Given the description of an element on the screen output the (x, y) to click on. 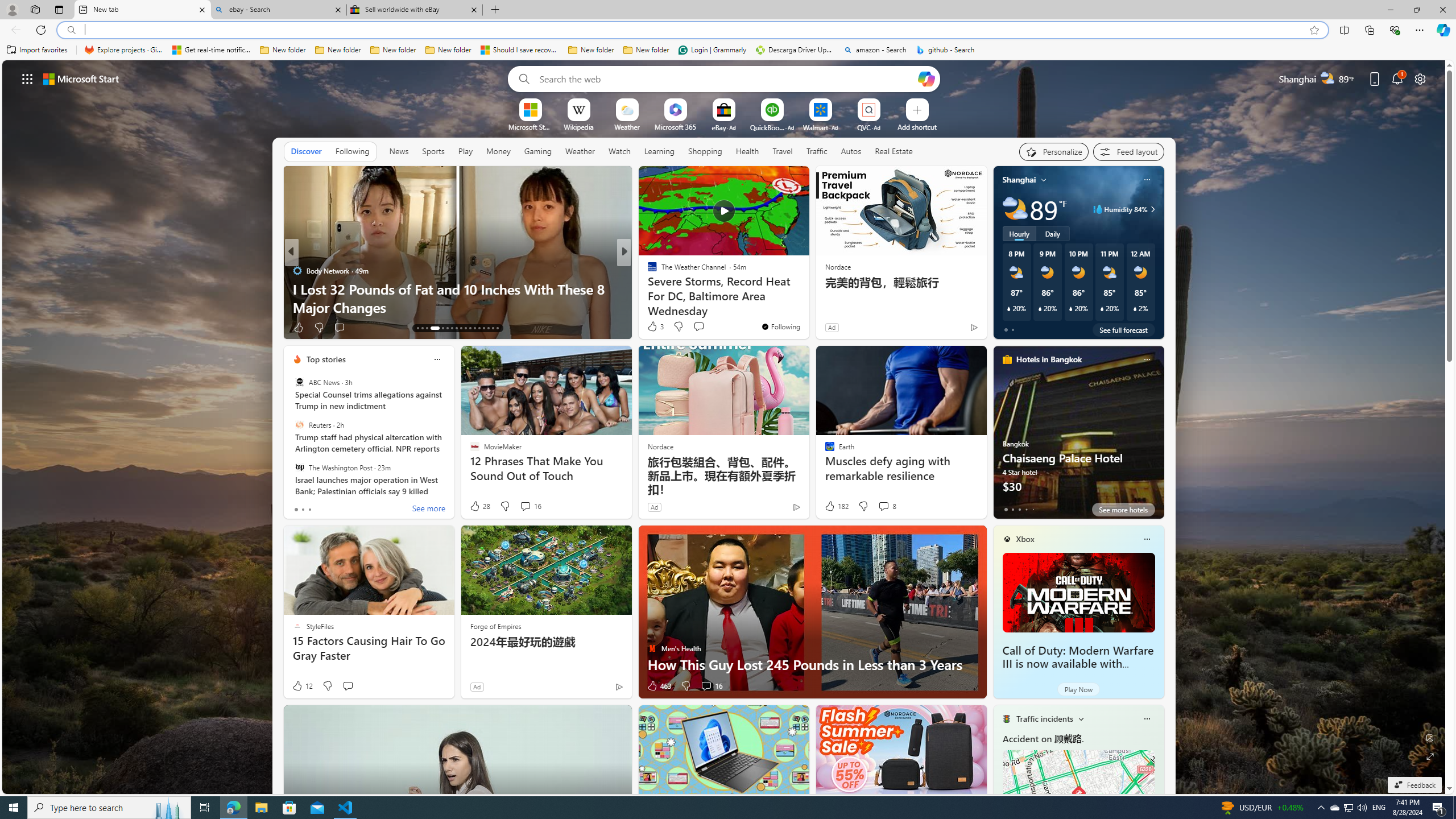
tab-1 (1012, 509)
Xbox (1025, 538)
Search icon (70, 29)
Spotlight Feature (647, 270)
Enter your search term (726, 78)
tab-0 (1005, 509)
View comments 1 Comment (705, 327)
Microsoft start (81, 78)
Class: icon-img (1146, 718)
